Given the description of an element on the screen output the (x, y) to click on. 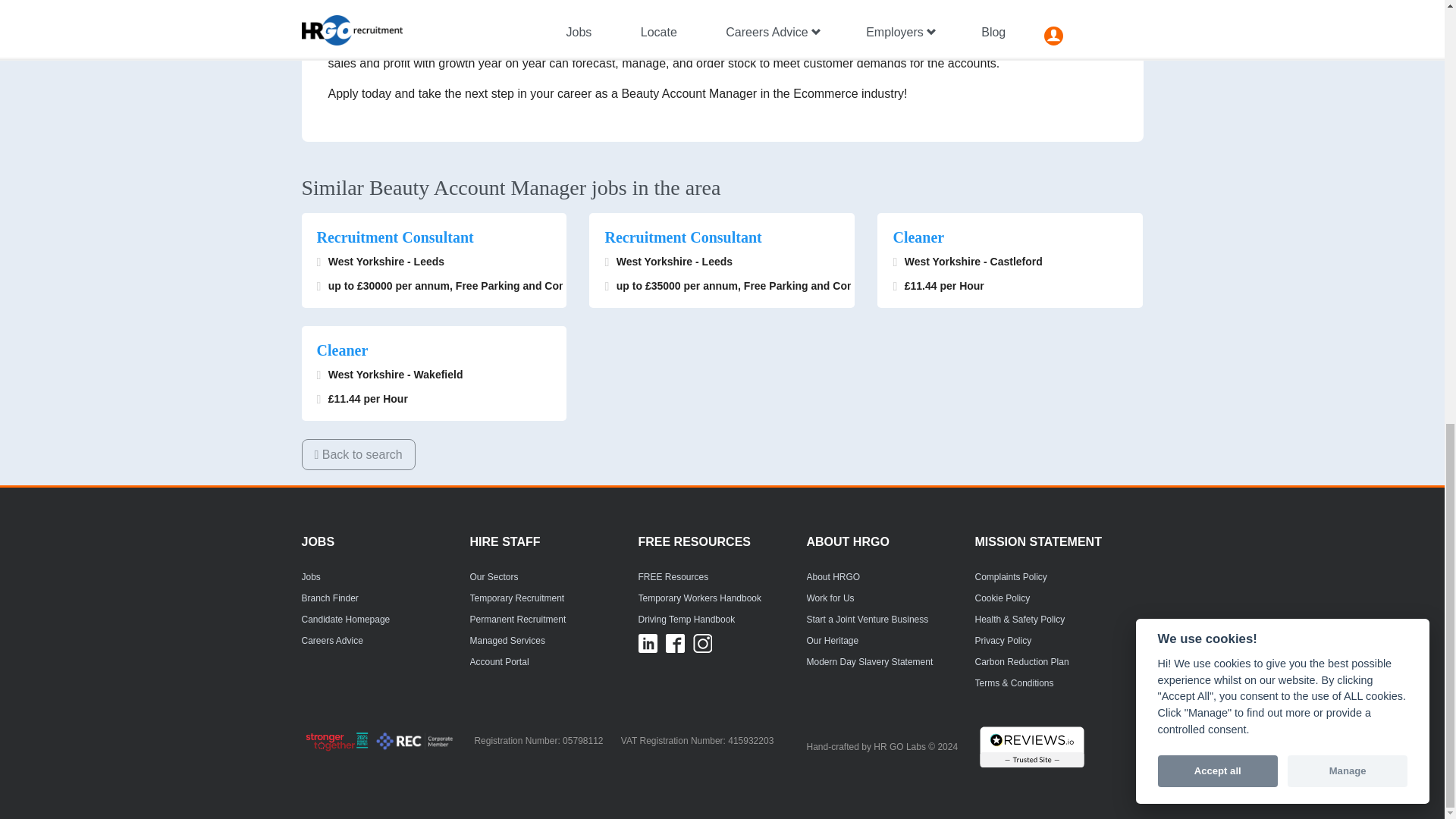
Cleaner (434, 350)
Recruitment Consultant (722, 237)
HR GO Facebook page (674, 642)
Cleaner (1009, 237)
Recruitment Consultant (434, 237)
Back to search (357, 454)
HR GO Instagram page (702, 642)
HR GO LinkedIn page (648, 642)
